Given the description of an element on the screen output the (x, y) to click on. 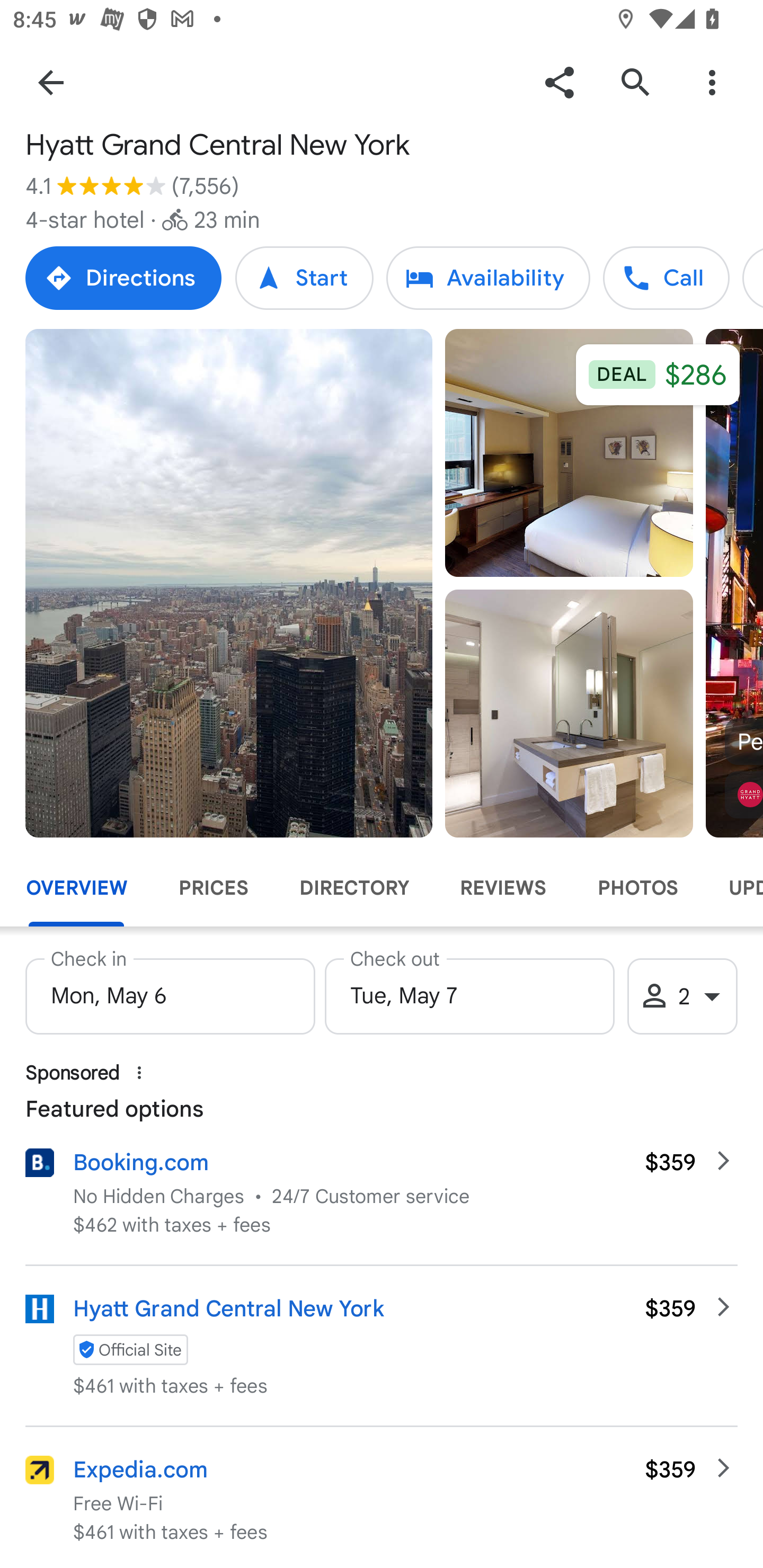
Back to Search (50, 81)
Share (559, 81)
Search (635, 81)
More options for Hyatt Grand Central New York (711, 81)
Start Start Start (304, 277)
Directory Directory Directory (752, 277)
Photo (228, 583)
Photo (568, 453)
DEAL $286 $286 at Hyatt Grand Central New York (657, 374)
Photo (568, 713)
PRICES Prices (212, 887)
DIRECTORY Directory (353, 887)
REVIEWS Reviews (502, 887)
PHOTOS Photos (637, 887)
UPDATES Updates (733, 887)
Mon, May 6 Check in date Mon, May 6 Check in (170, 990)
Tue, May 7 Check out date Tue, May 7 Check out (469, 990)
Tap to select number of guests. Selected 2 2 (682, 996)
About this ad (139, 1072)
Expedia.com $359 Free Wi-Fi $461 with taxes + fees (381, 1497)
